Given the description of an element on the screen output the (x, y) to click on. 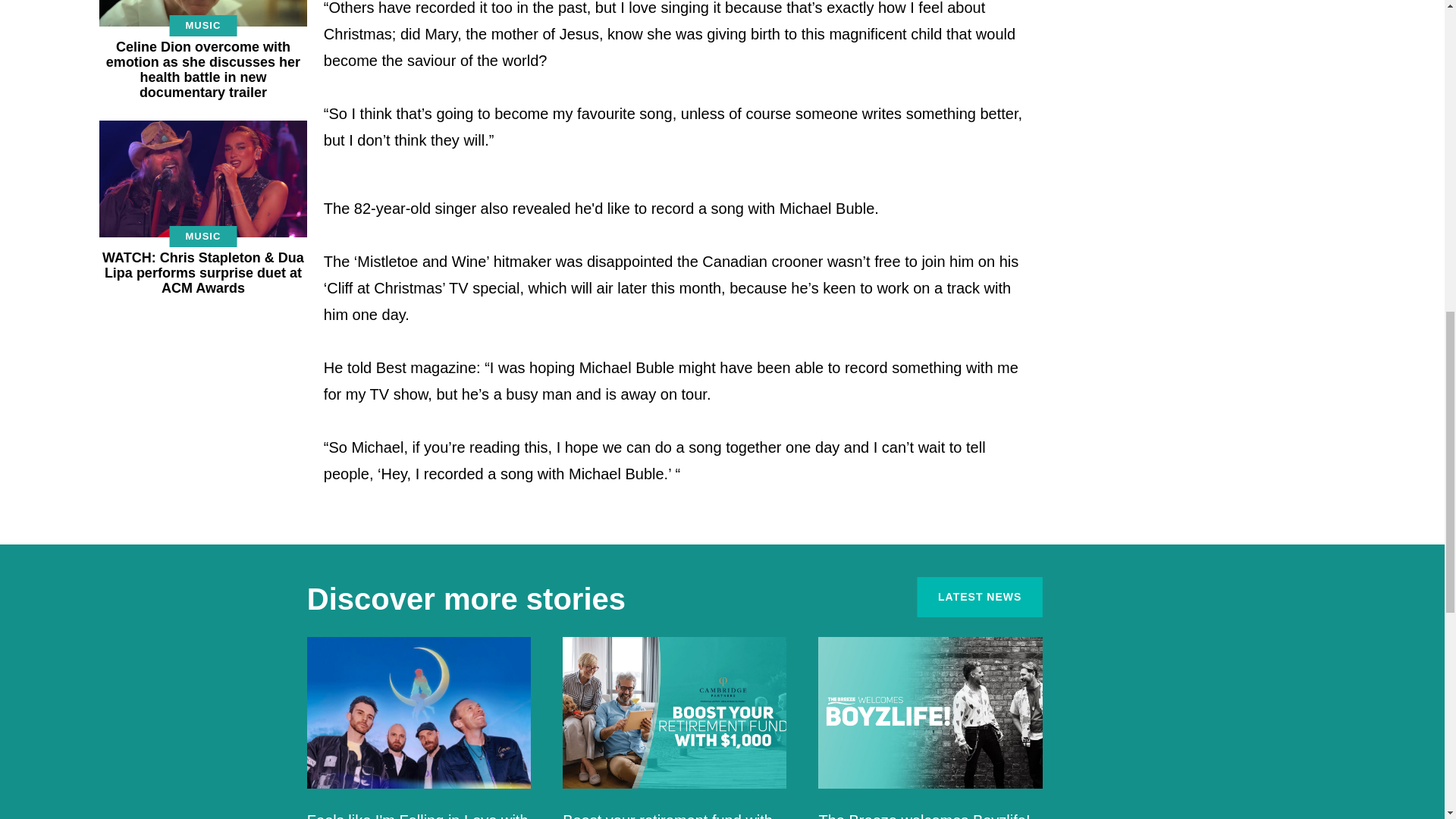
MUSIC (201, 236)
MUSIC (201, 25)
